Given the description of an element on the screen output the (x, y) to click on. 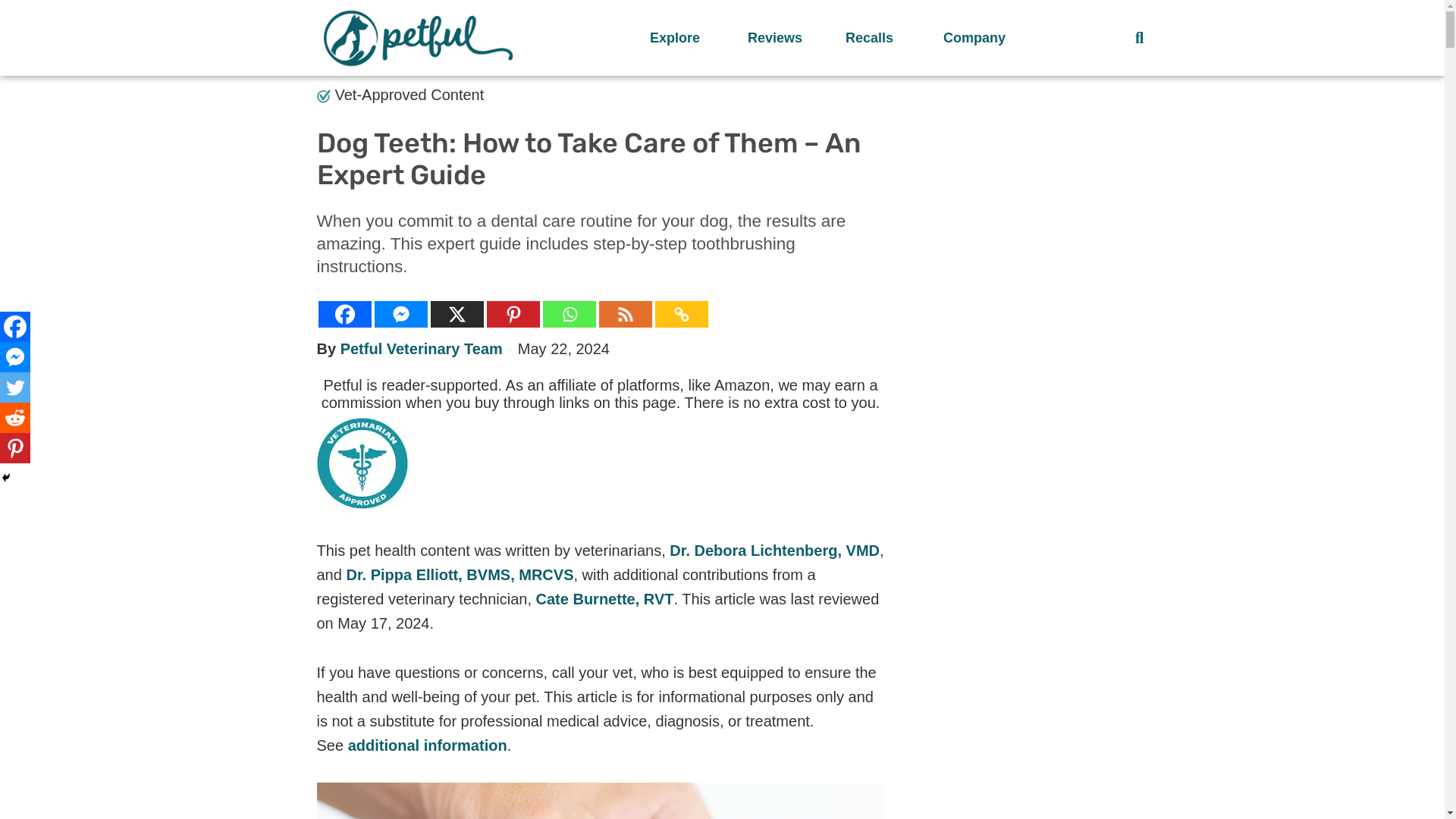
X (456, 314)
Twitter (15, 387)
Company (977, 38)
Pinterest (15, 448)
Explore (683, 38)
Pinterest (513, 314)
Reviews (780, 38)
Copy Link (681, 314)
Facebook (344, 314)
Reddit (15, 417)
Recalls (878, 38)
Hide (5, 477)
Facebook (15, 327)
RSS Feed (625, 314)
Whatsapp (569, 314)
